Given the description of an element on the screen output the (x, y) to click on. 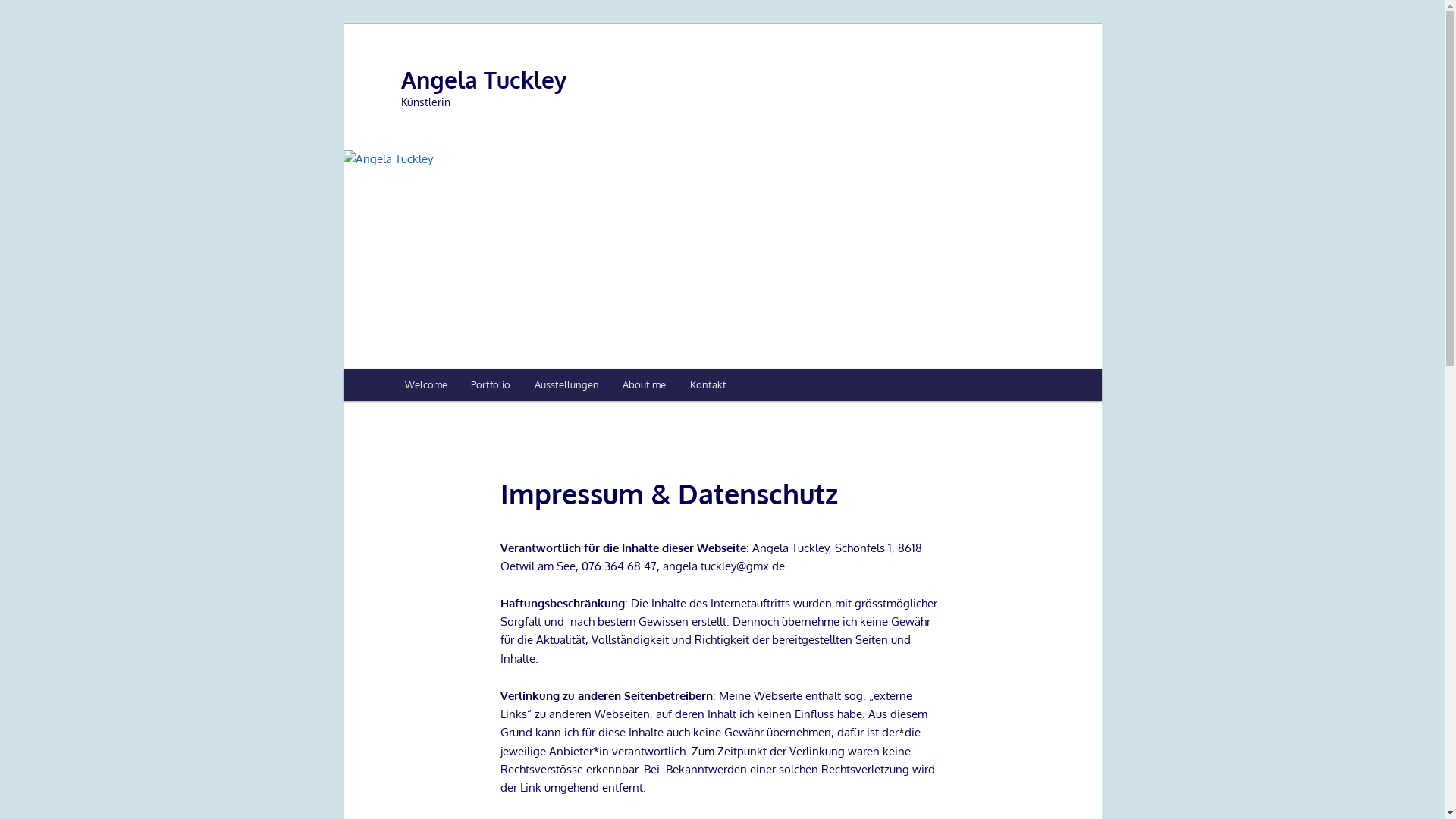
Portfolio Element type: text (490, 384)
Zum Inhalt wechseln Element type: text (22, 22)
Kontakt Element type: text (707, 384)
About me Element type: text (643, 384)
Angela Tuckley Element type: text (482, 79)
Welcome Element type: text (425, 384)
Ausstellungen Element type: text (566, 384)
